Given the description of an element on the screen output the (x, y) to click on. 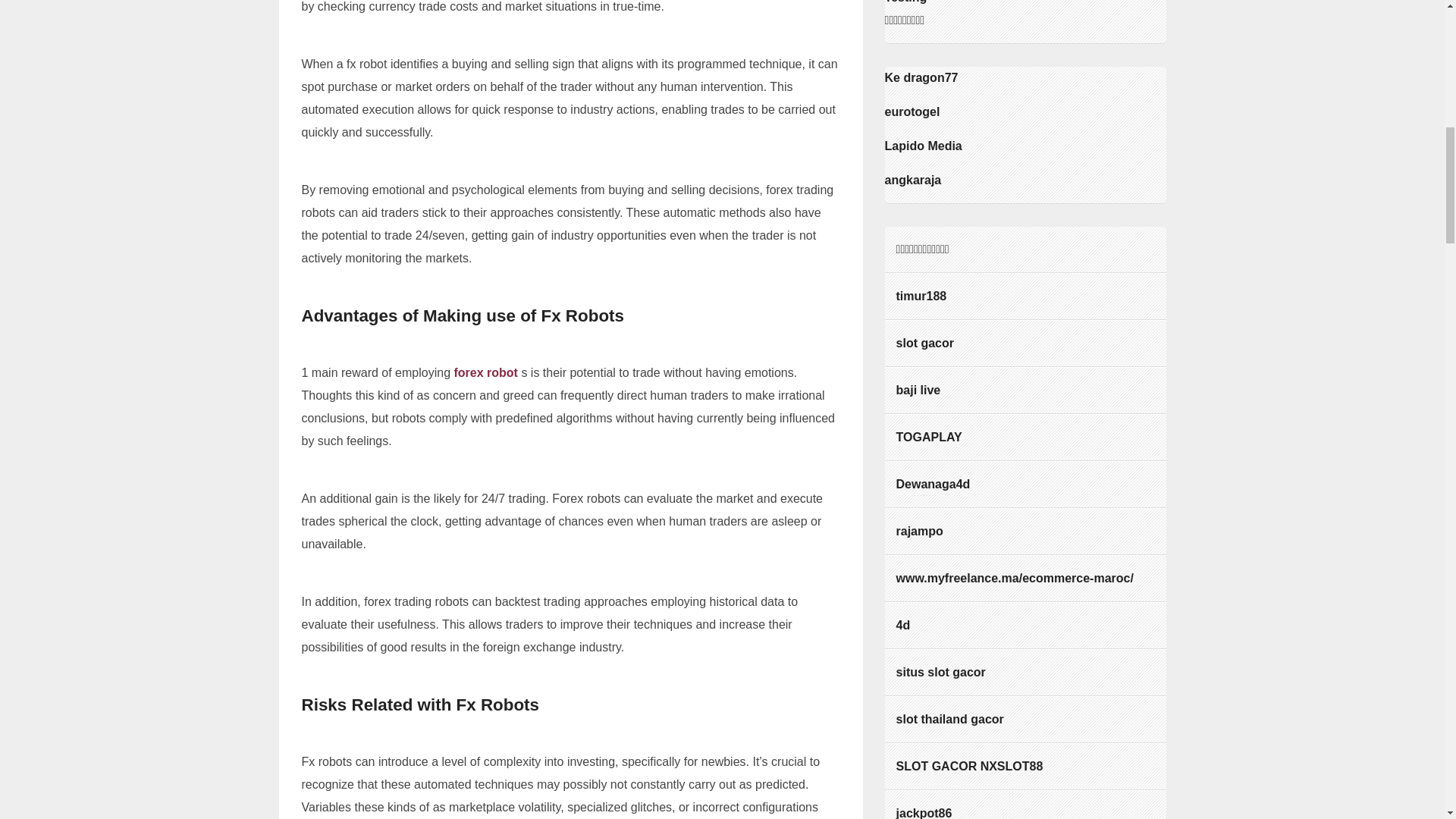
forex robot (484, 372)
